Given the description of an element on the screen output the (x, y) to click on. 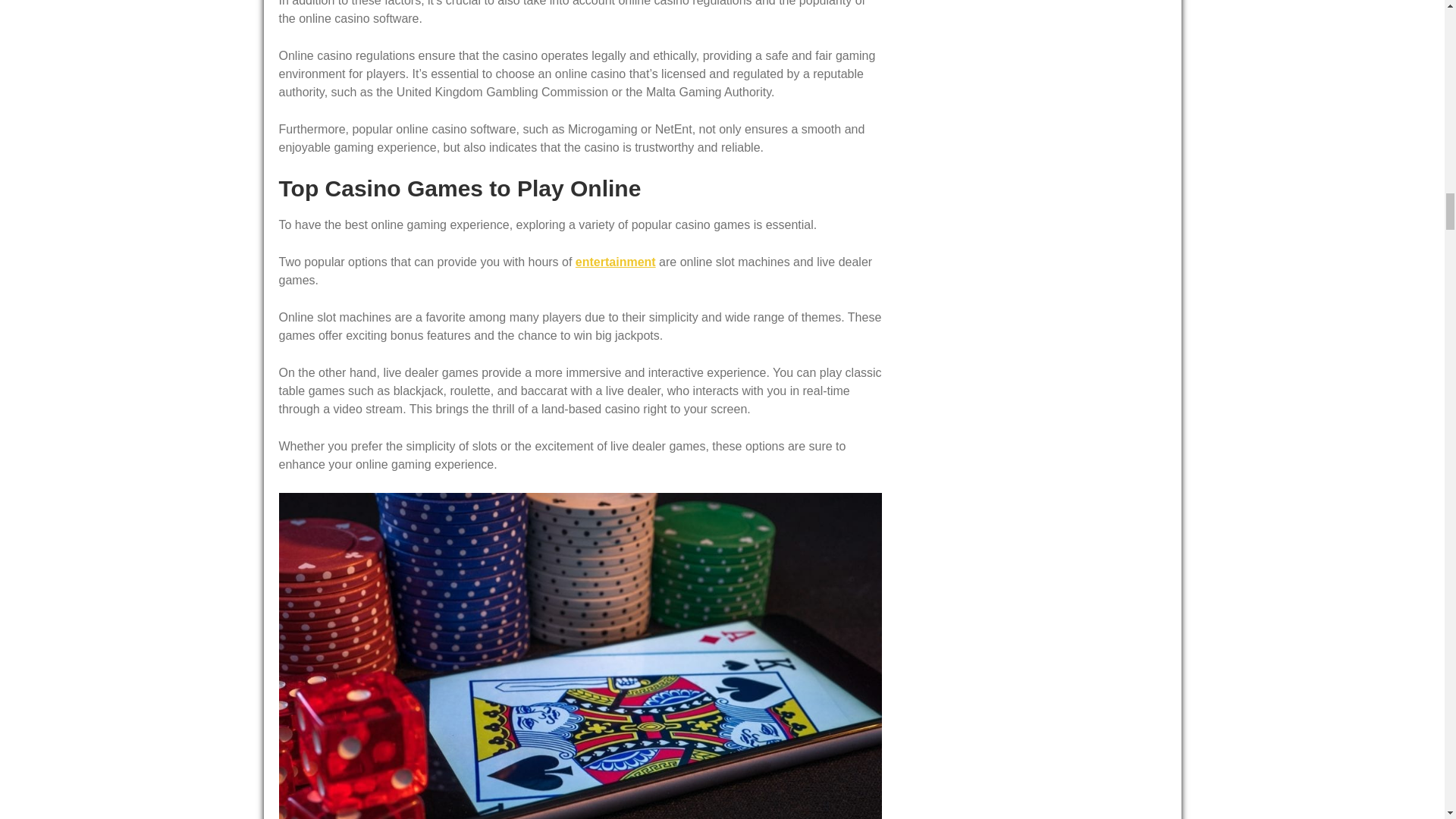
entertainment (615, 261)
